Given the description of an element on the screen output the (x, y) to click on. 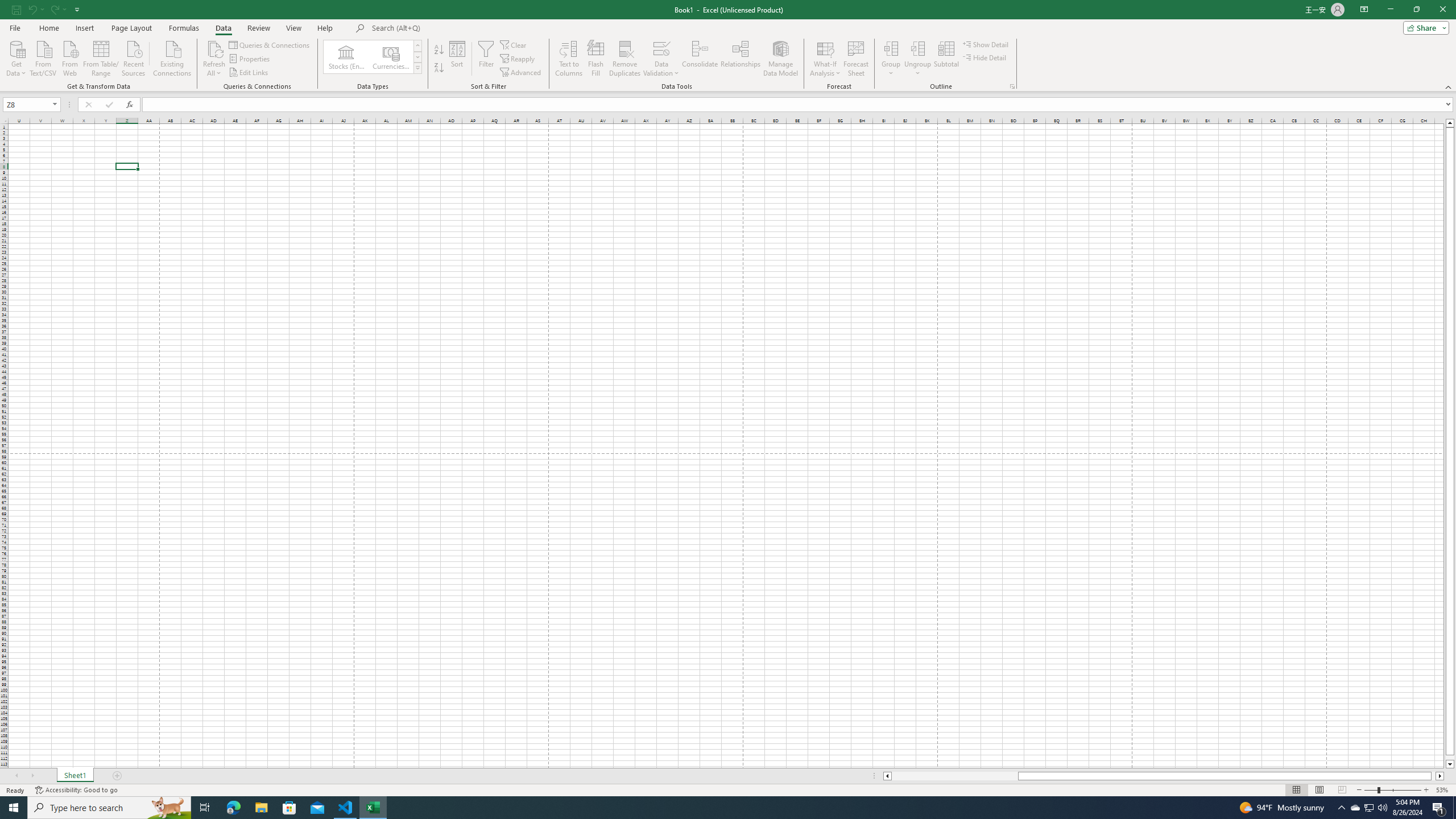
Consolidate... (700, 58)
